Given the description of an element on the screen output the (x, y) to click on. 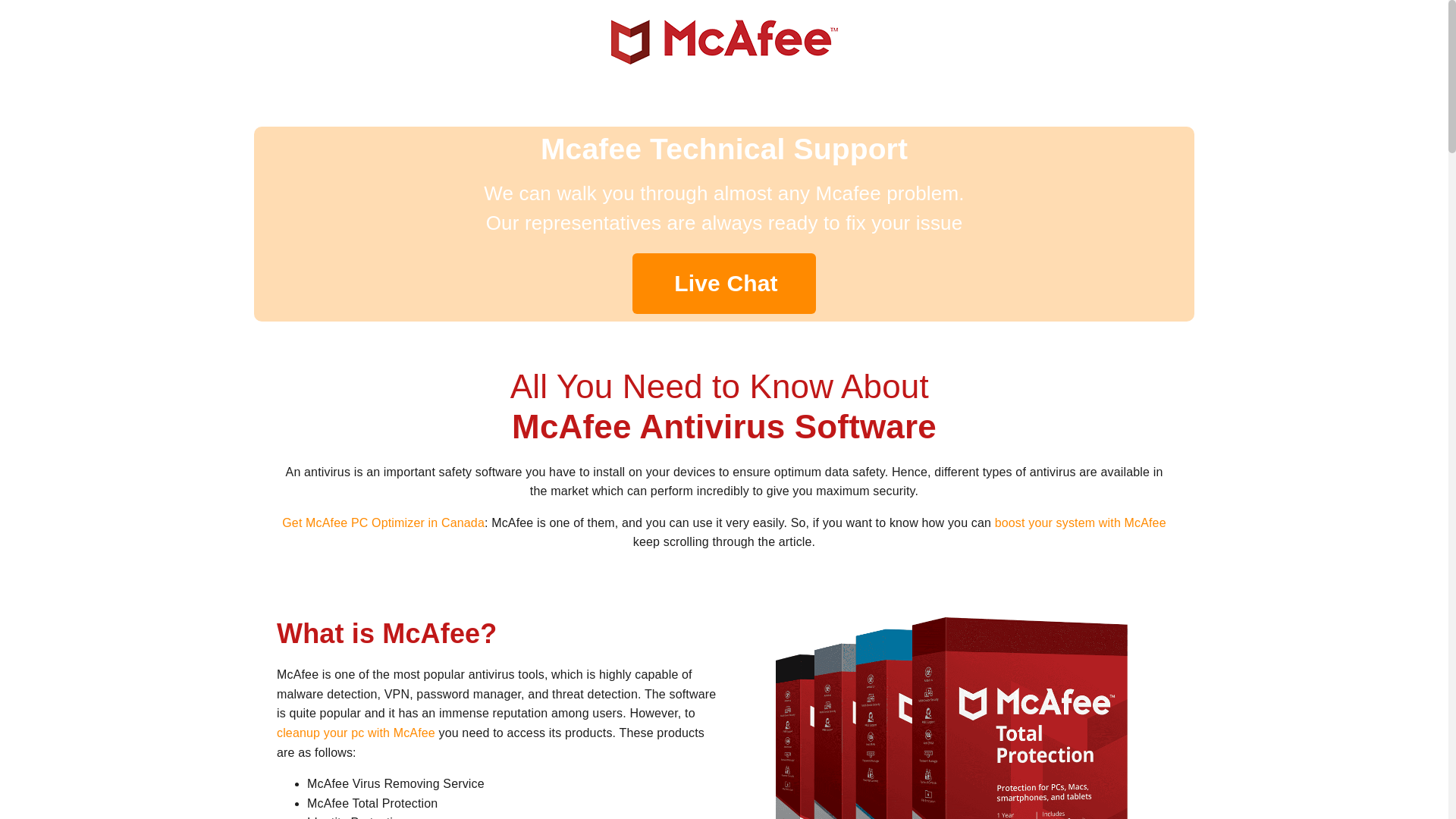
boost your system with McAfee (1080, 522)
Live Chat (723, 283)
Get McAfee PC Optimizer in Canada (383, 522)
cleanup your pc with McAfee (355, 732)
